Given the description of an element on the screen output the (x, y) to click on. 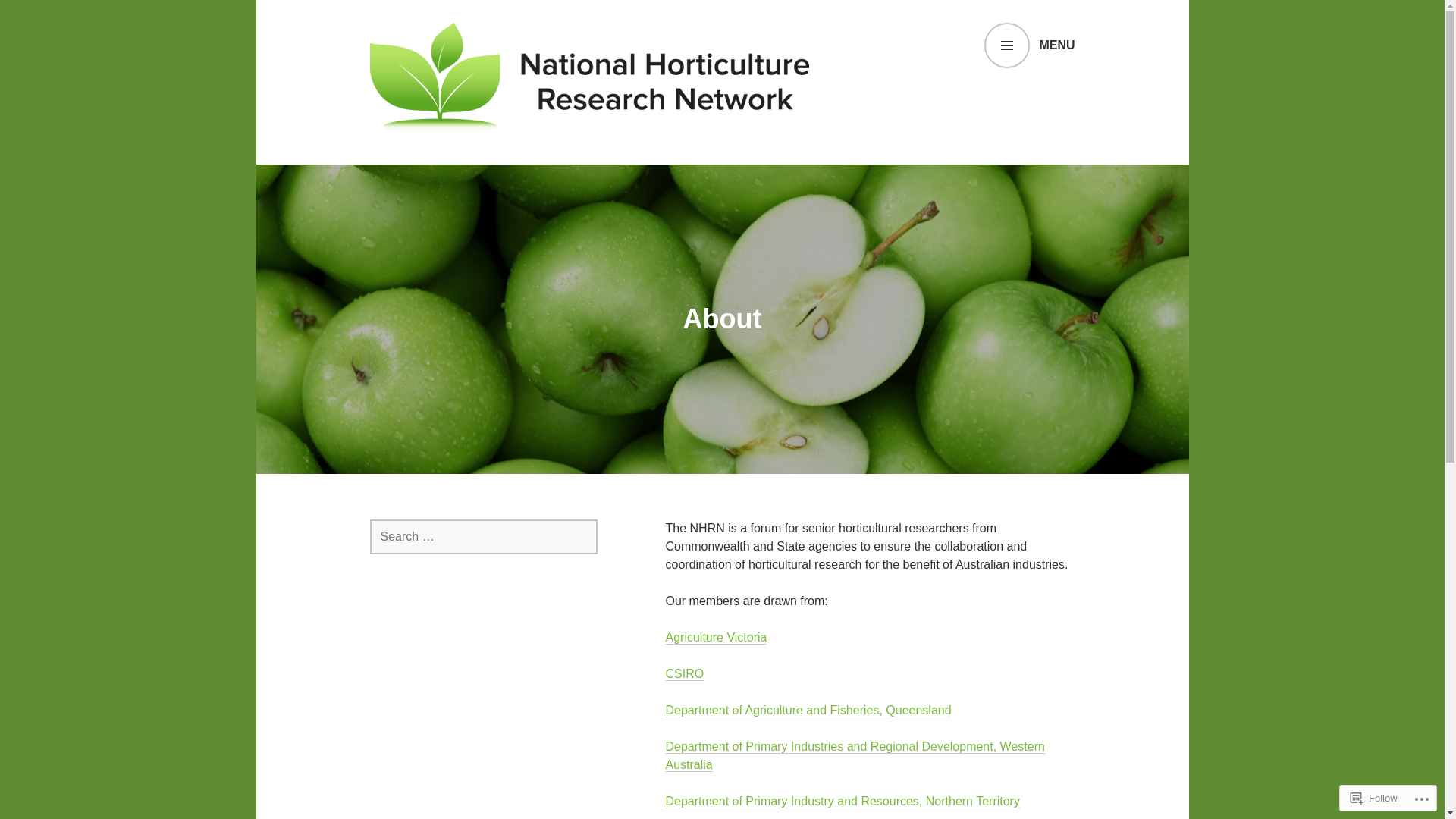
Follow Element type: text (1373, 797)
Department of Agriculture and Fisheries, Queensland Element type: text (808, 710)
Agriculture Victoria Element type: text (716, 637)
MENU Element type: text (1029, 45)
Search Element type: text (45, 17)
CSIRO Element type: text (684, 673)
